Given the description of an element on the screen output the (x, y) to click on. 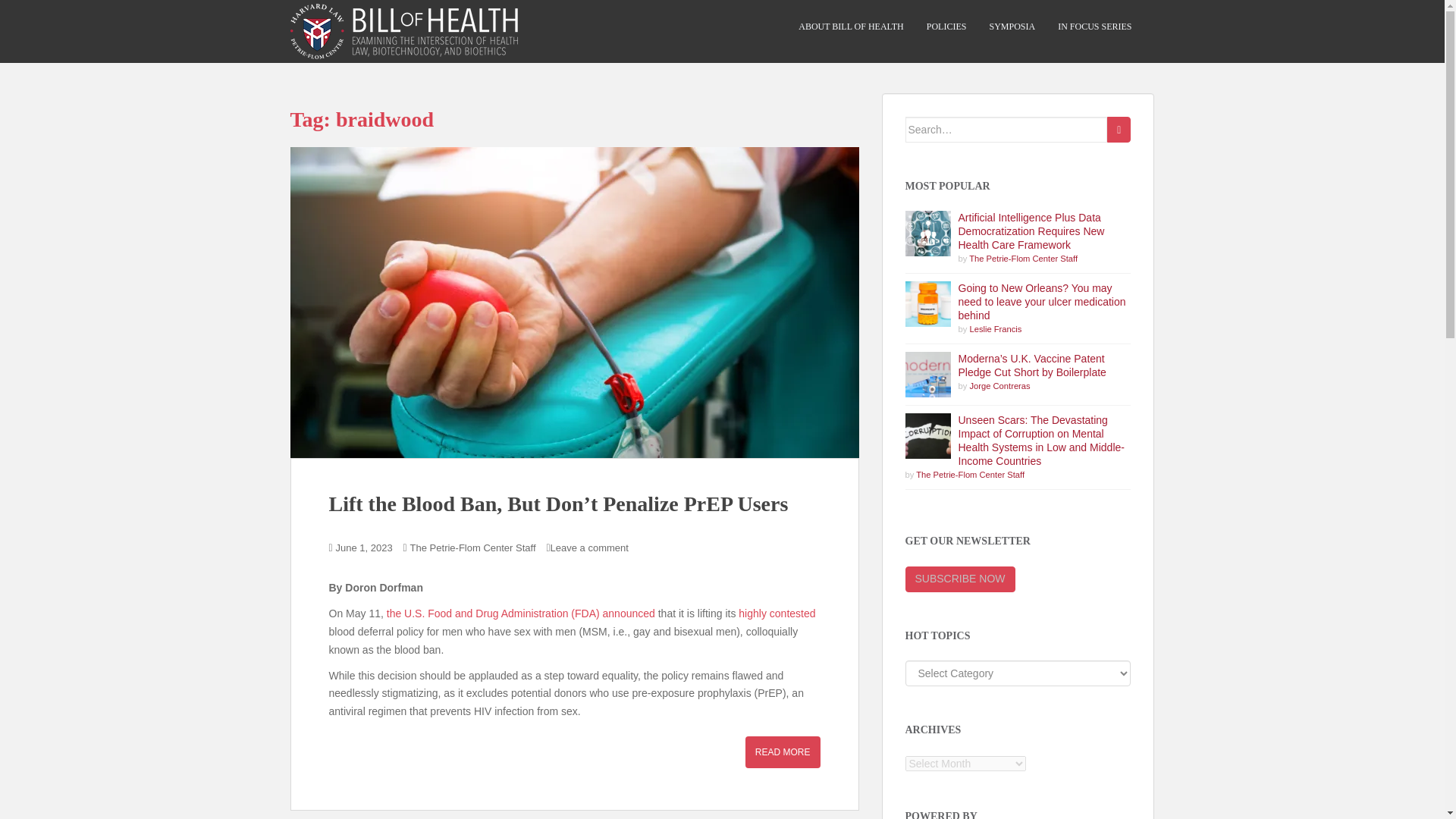
Leave a comment (589, 547)
The Petrie-Flom Center Staff (1023, 257)
Leslie Francis (995, 328)
POLICIES (946, 26)
Search (1118, 129)
IN FOCUS SERIES (1094, 26)
The Petrie-Flom Center Staff (472, 547)
Search for: (1006, 129)
highly (752, 613)
SYMPOSIA (1011, 26)
ABOUT BILL OF HEALTH (850, 26)
Jorge Contreras (999, 385)
